Given the description of an element on the screen output the (x, y) to click on. 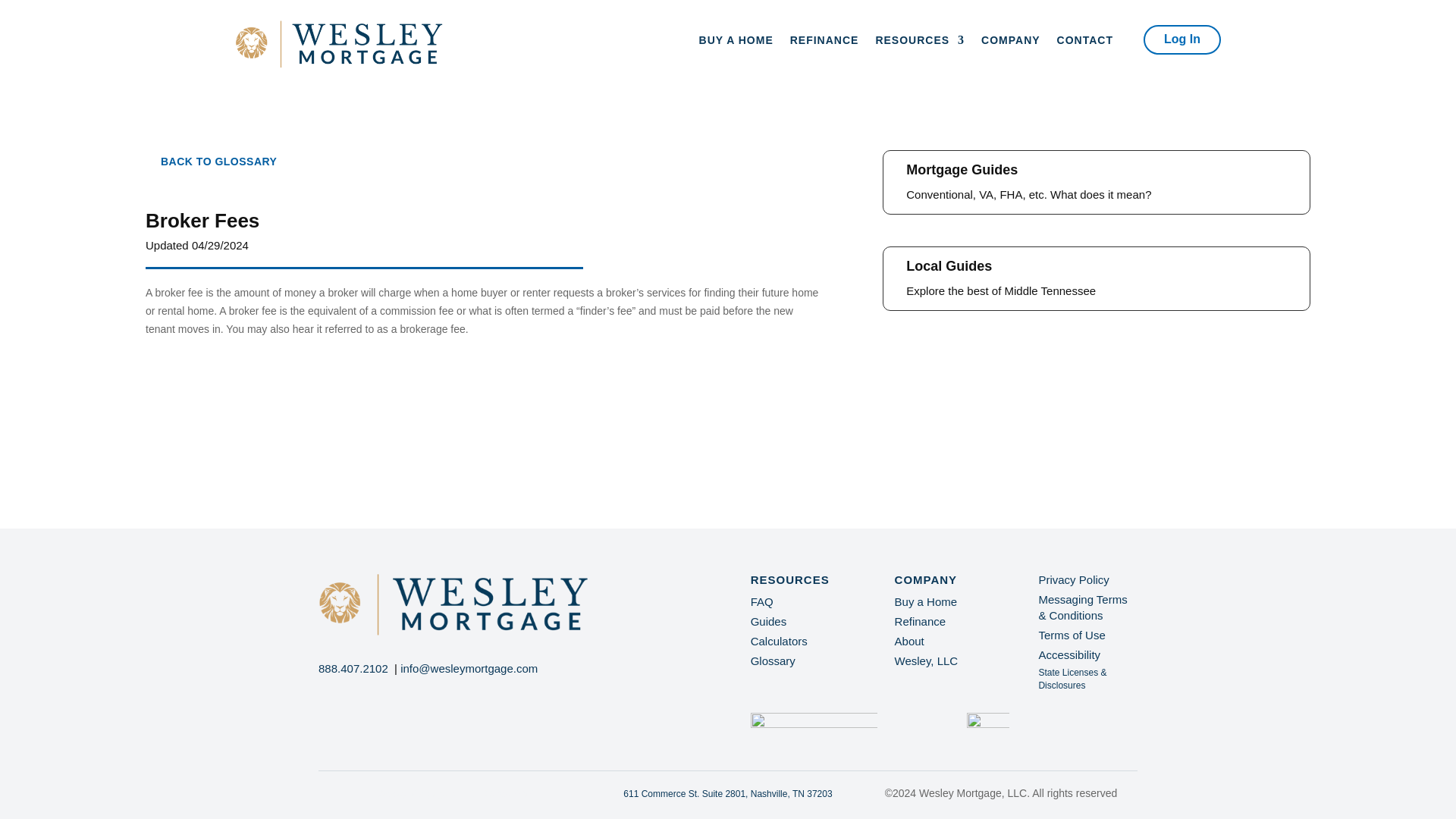
Log In (1181, 39)
COMPANY (1011, 43)
RESOURCES (919, 43)
REFINANCE (824, 43)
BUY A HOME (735, 43)
wesley-mortgage-logo (339, 43)
CONTACT (1085, 43)
